Given the description of an element on the screen output the (x, y) to click on. 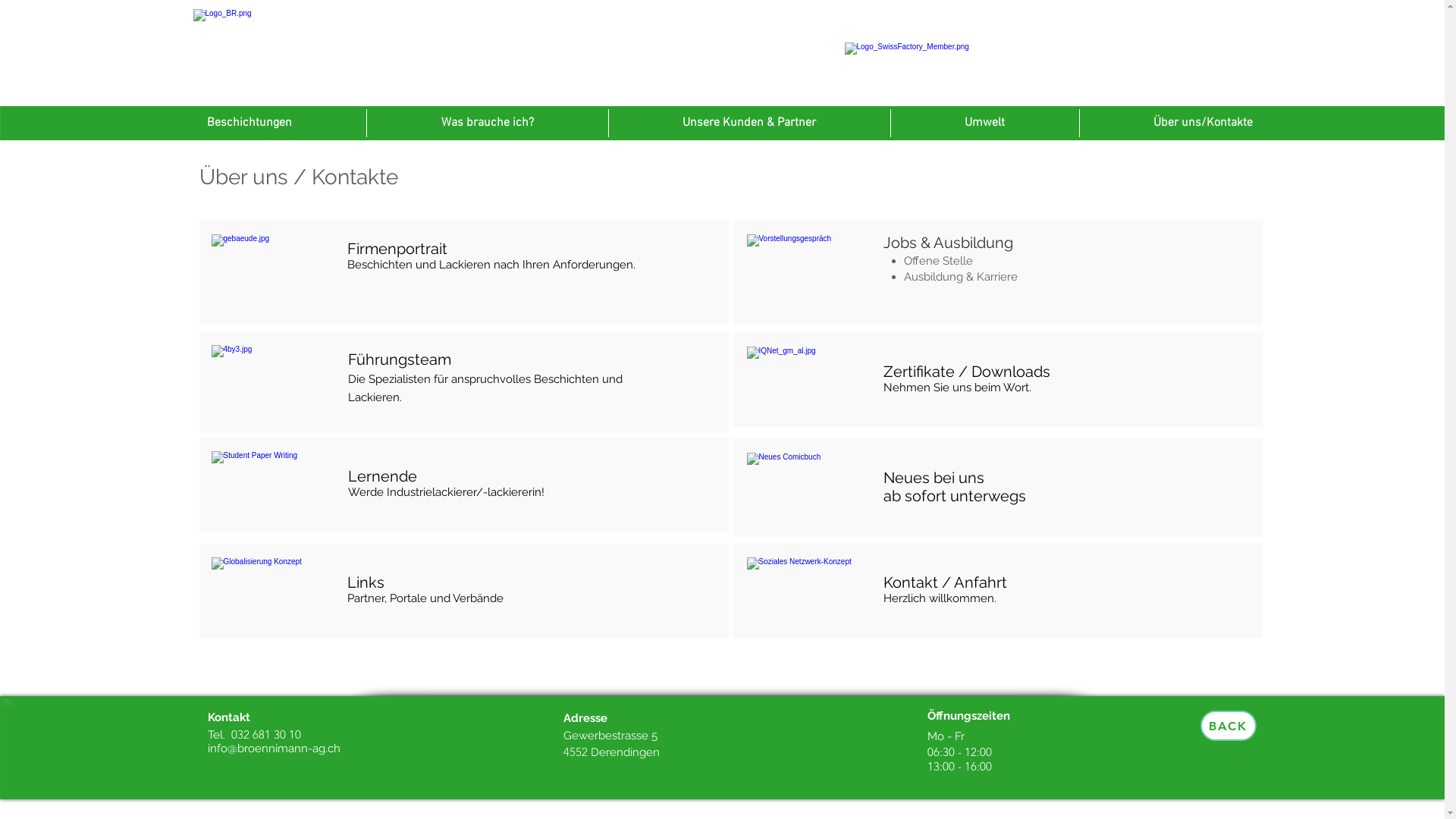
info@broennimann-ag.ch Element type: text (273, 748)
Umwelt Element type: text (984, 123)
Was brauche ich? Element type: text (487, 123)
BACK Element type: text (1227, 725)
Beschichtungen Element type: text (248, 123)
Werde Industrielackierer/-lackiererin! Element type: text (445, 491)
Offene Stelle Element type: text (937, 260)
Neues bei uns Element type: text (932, 477)
Links Element type: text (365, 582)
Ausbildung & Karriere Element type: text (960, 276)
Jobs & Ausbildung Element type: text (947, 242)
Kontakt / Anfahrt Element type: text (944, 582)
Unsere Kunden & Partner Element type: text (748, 123)
Zertifikate / Downloads Element type: text (965, 371)
Firmenportrait Element type: text (397, 248)
ab sofort unterwegs Element type: text (953, 495)
Lernende Element type: text (381, 476)
